Given the description of an element on the screen output the (x, y) to click on. 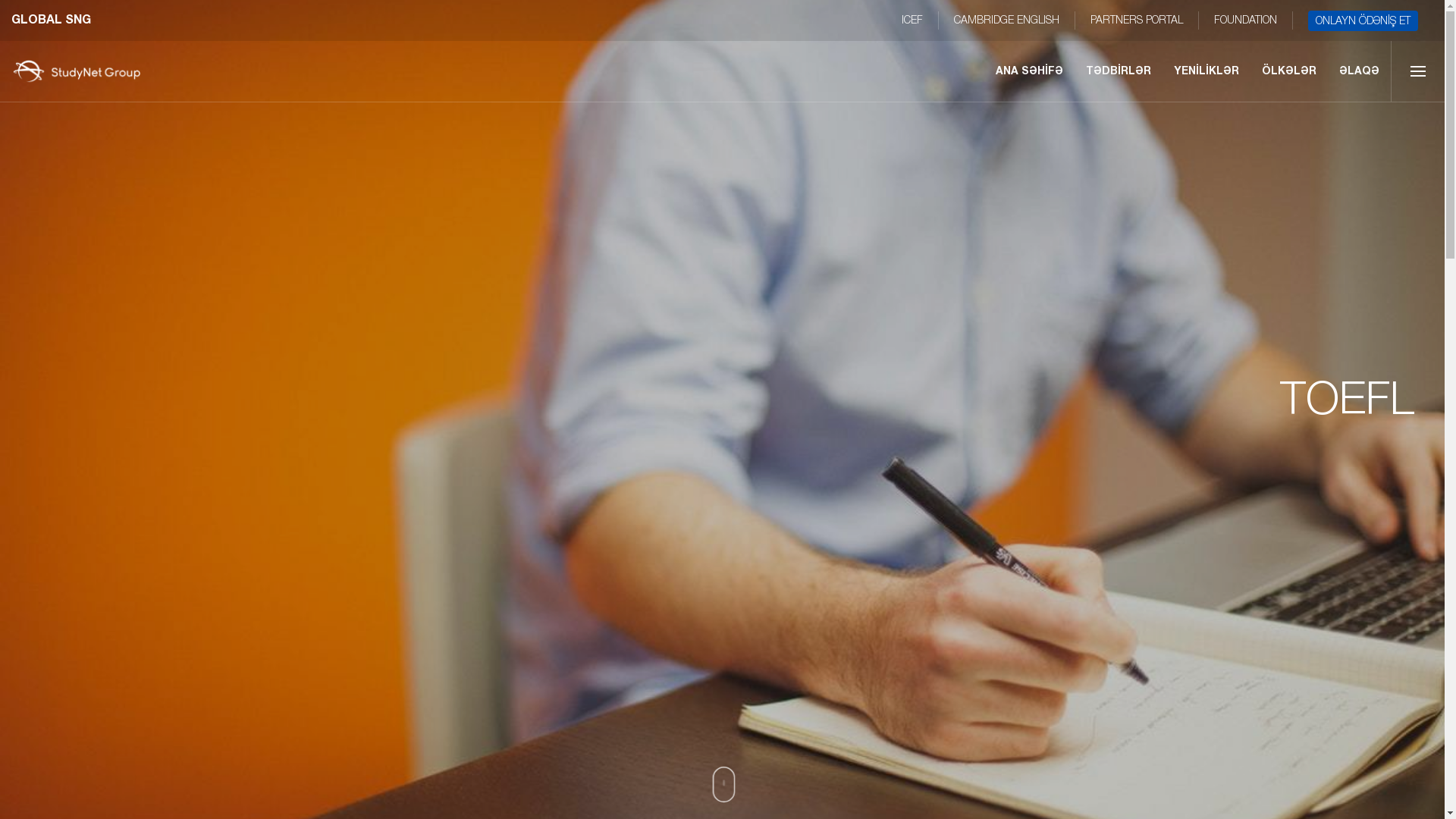
CAMBRIDGE ENGLISH Element type: text (1006, 20)
FOUNDATION Element type: text (1245, 20)
GLOBAL SNG Element type: text (51, 20)
PARTNERS PORTAL Element type: text (1136, 20)
ICEF Element type: text (911, 20)
